Given the description of an element on the screen output the (x, y) to click on. 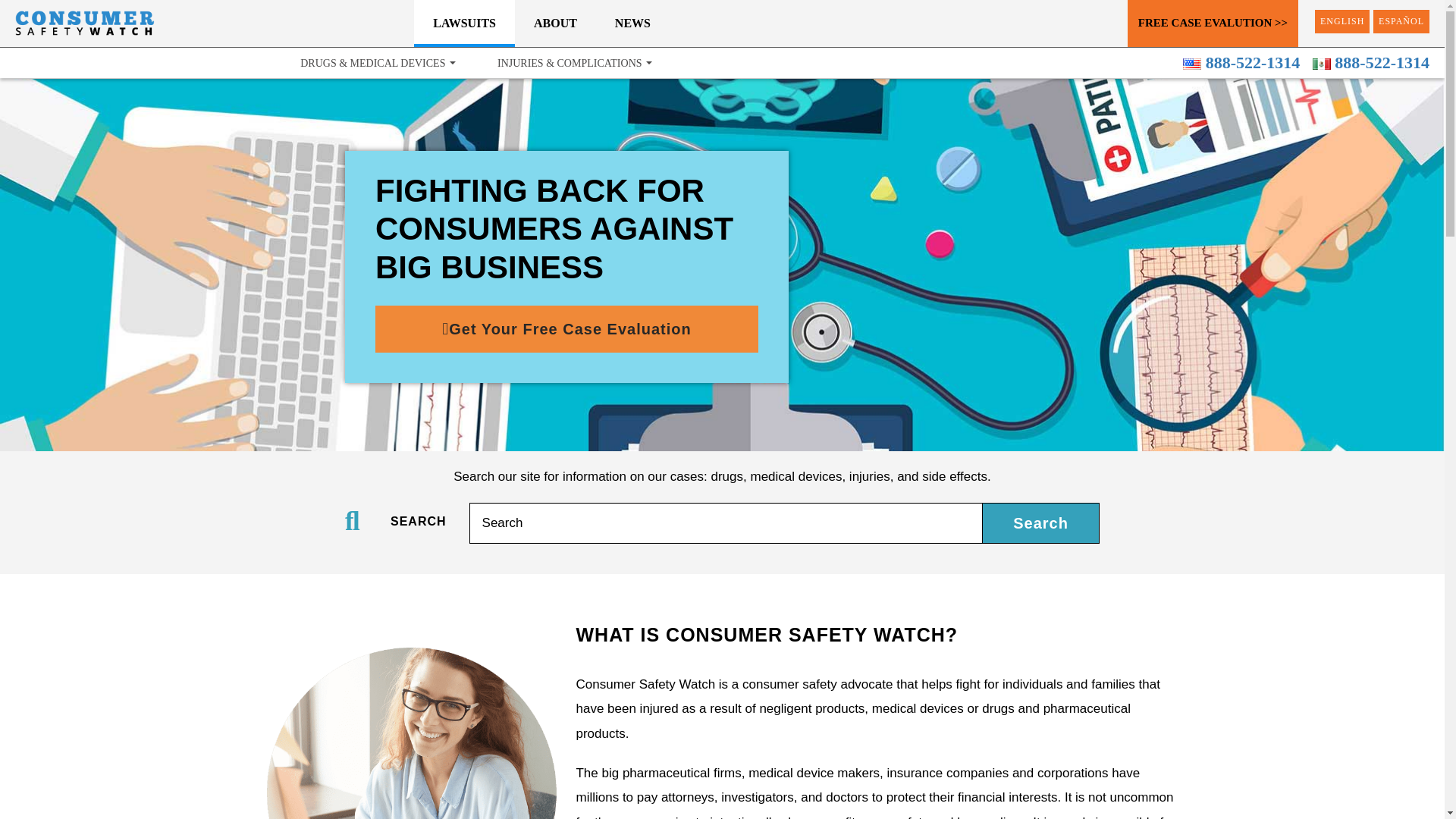
Search (726, 522)
Search (726, 522)
LAWSUITS (464, 22)
Lawsuits (464, 22)
